Given the description of an element on the screen output the (x, y) to click on. 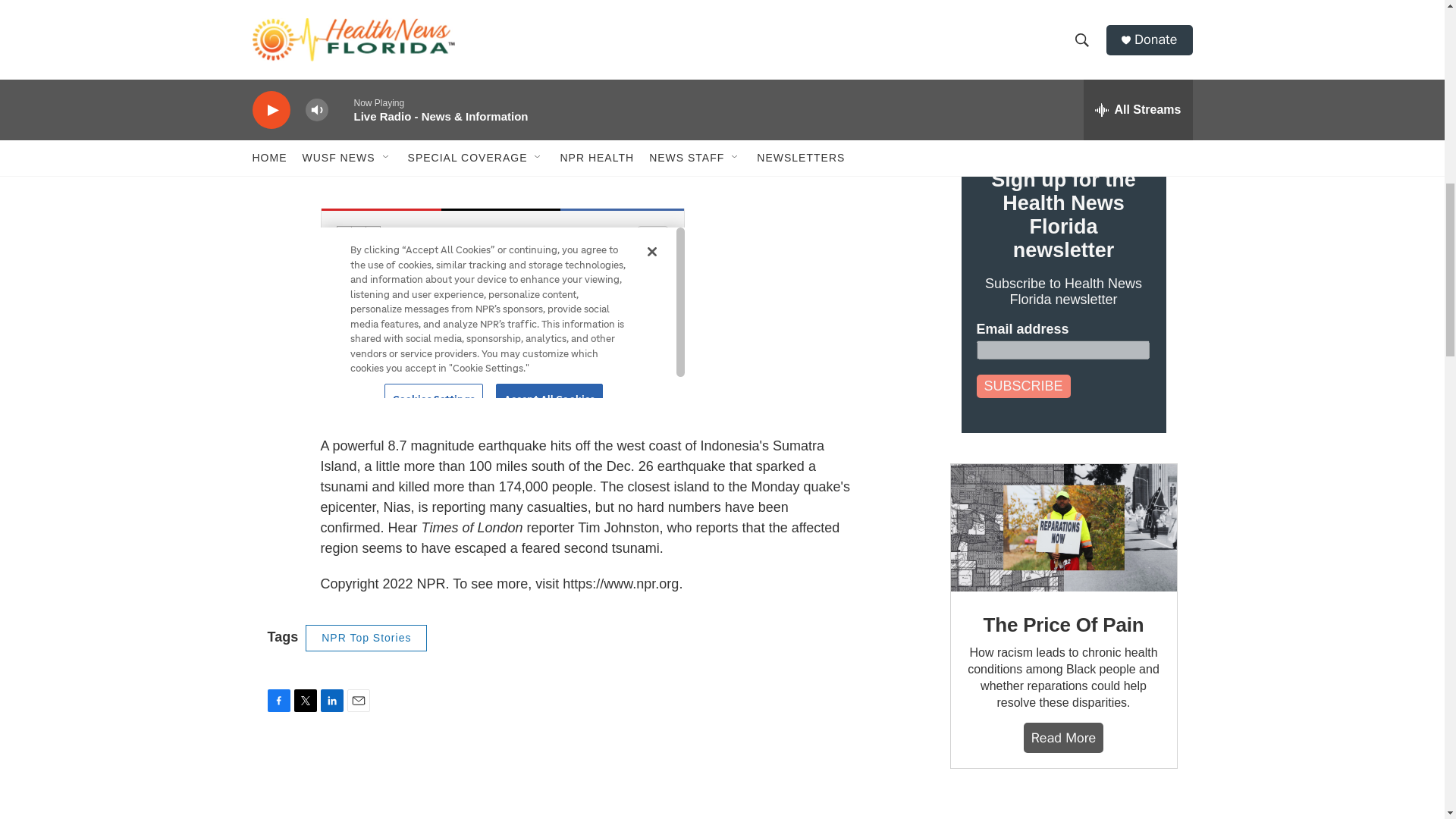
3rd party ad content (1062, 809)
